Given the description of an element on the screen output the (x, y) to click on. 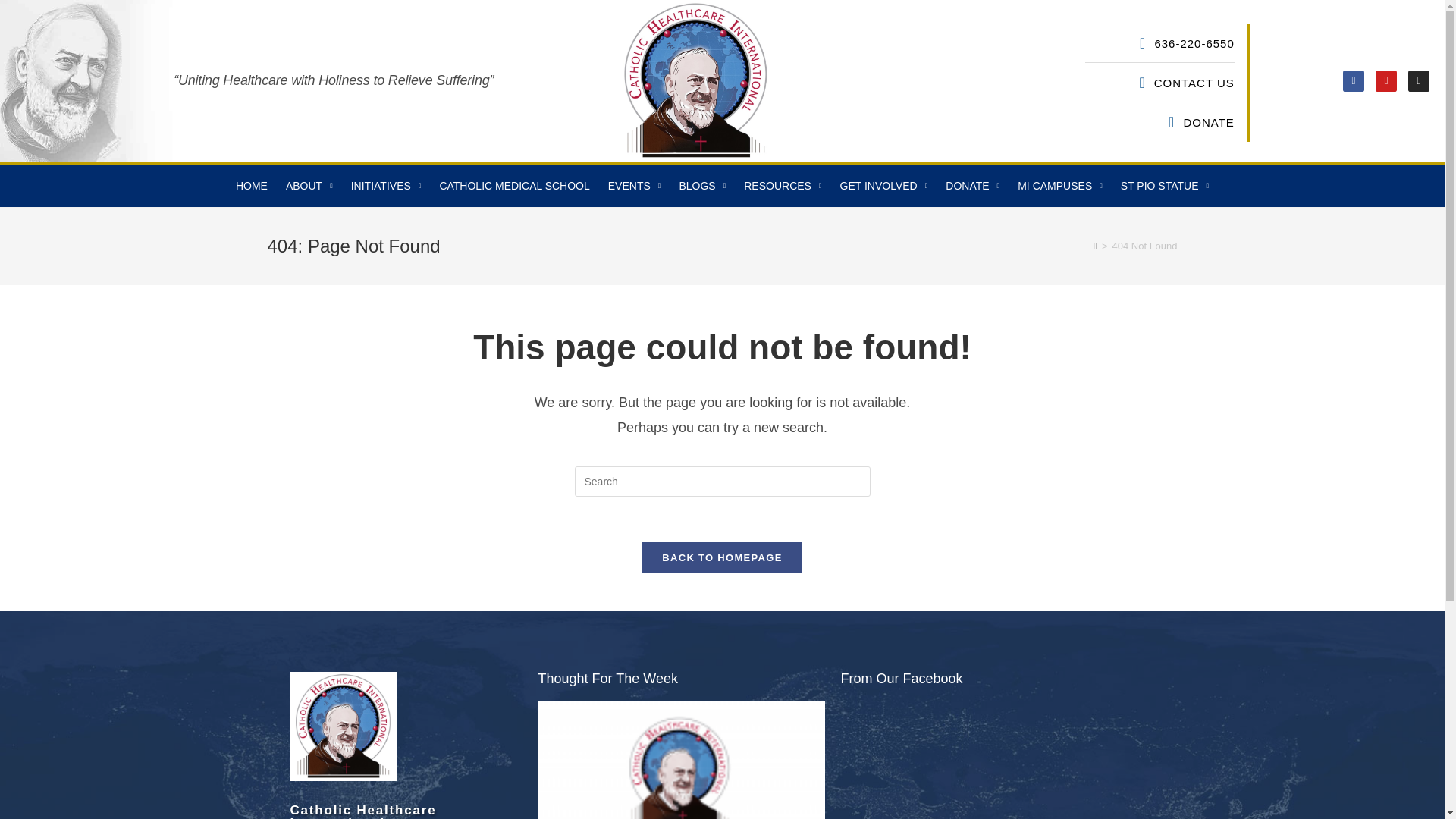
CONTACT US (1051, 82)
HOME (251, 185)
DONATE (1051, 122)
RESOURCES (782, 185)
EVENTS (633, 185)
BLOGS (702, 185)
CATHOLIC MEDICAL SCHOOL (513, 185)
ABOUT (309, 185)
INITIATIVES (386, 185)
636-220-6550 (1051, 43)
GET INVOLVED (884, 185)
